Given the description of an element on the screen output the (x, y) to click on. 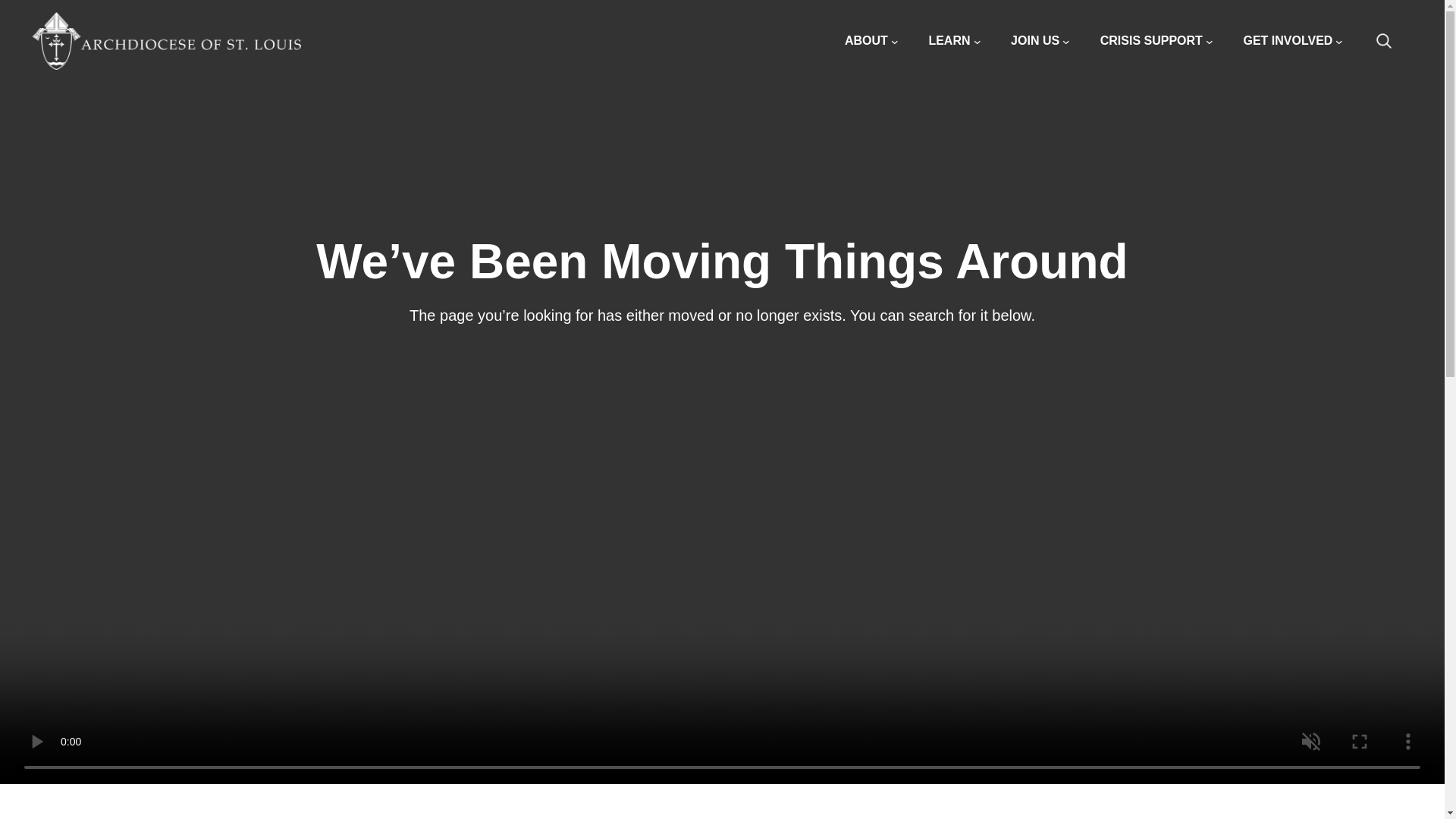
LEARN (953, 40)
ABOUT (871, 40)
CRISIS SUPPORT (1156, 40)
GET INVOLVED (1292, 40)
JOIN US (1040, 40)
search (1392, 40)
